Given the description of an element on the screen output the (x, y) to click on. 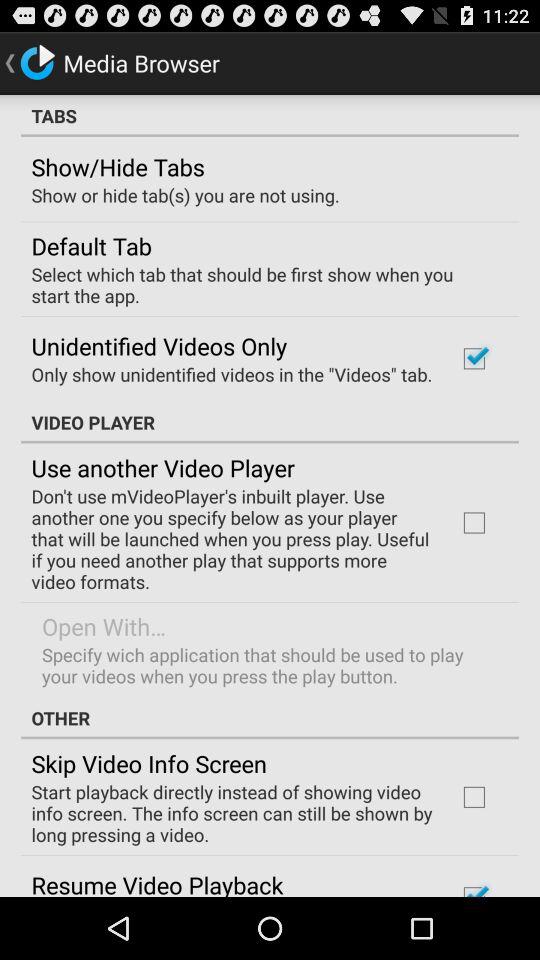
flip until select which tab item (263, 284)
